Given the description of an element on the screen output the (x, y) to click on. 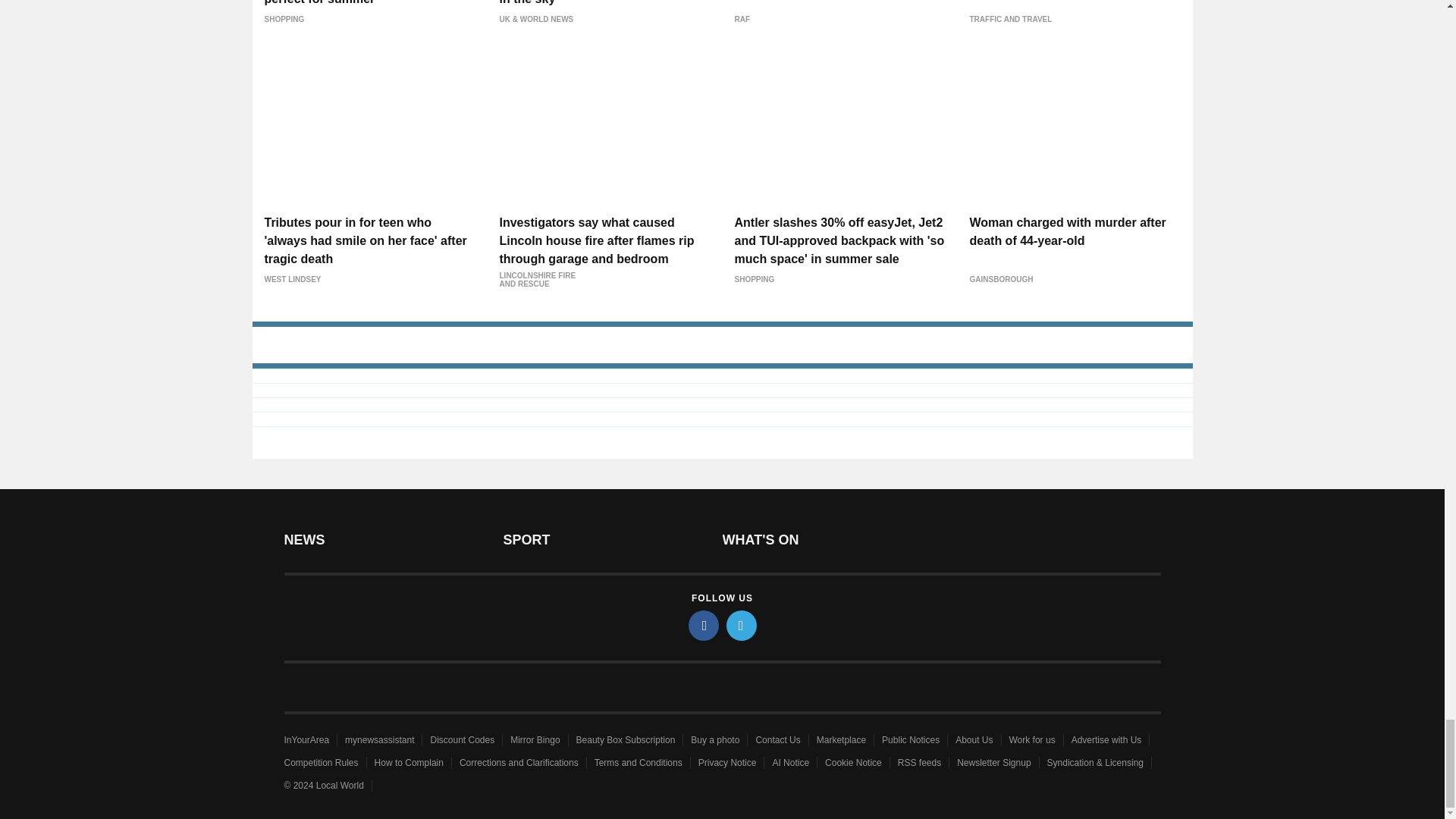
twitter (741, 625)
facebook (703, 625)
